Given the description of an element on the screen output the (x, y) to click on. 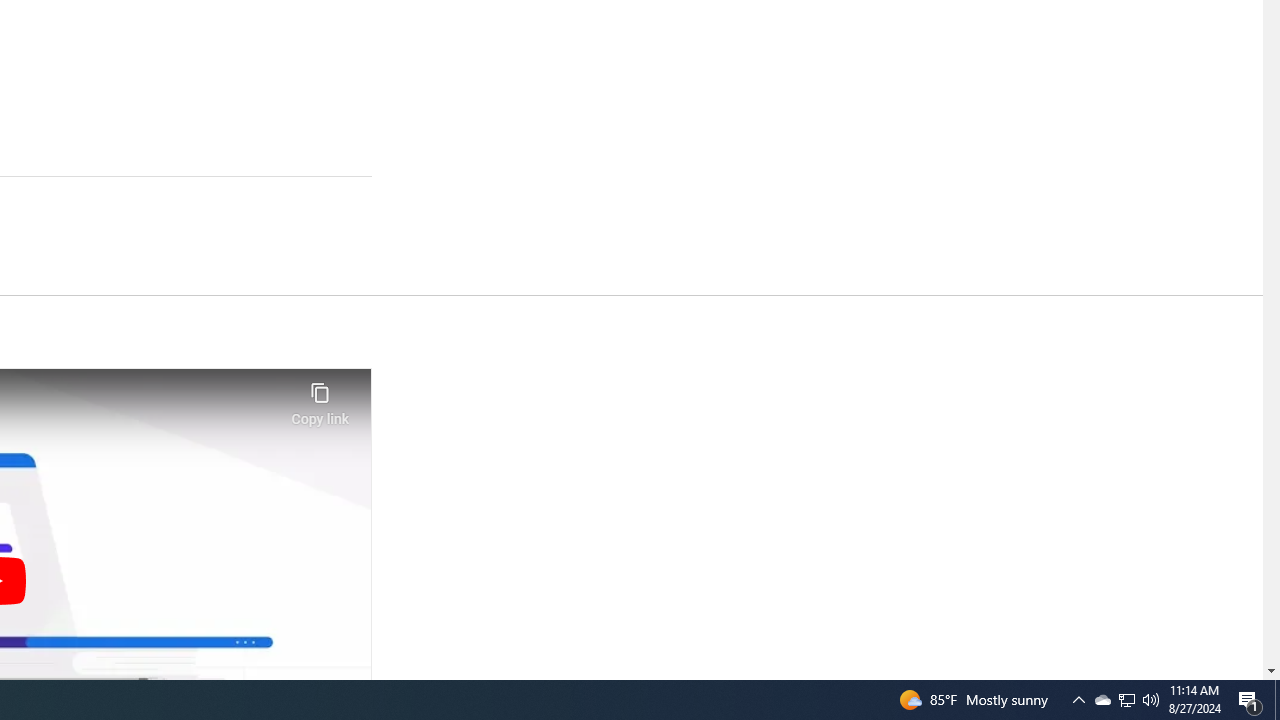
Copy link (319, 398)
